Given the description of an element on the screen output the (x, y) to click on. 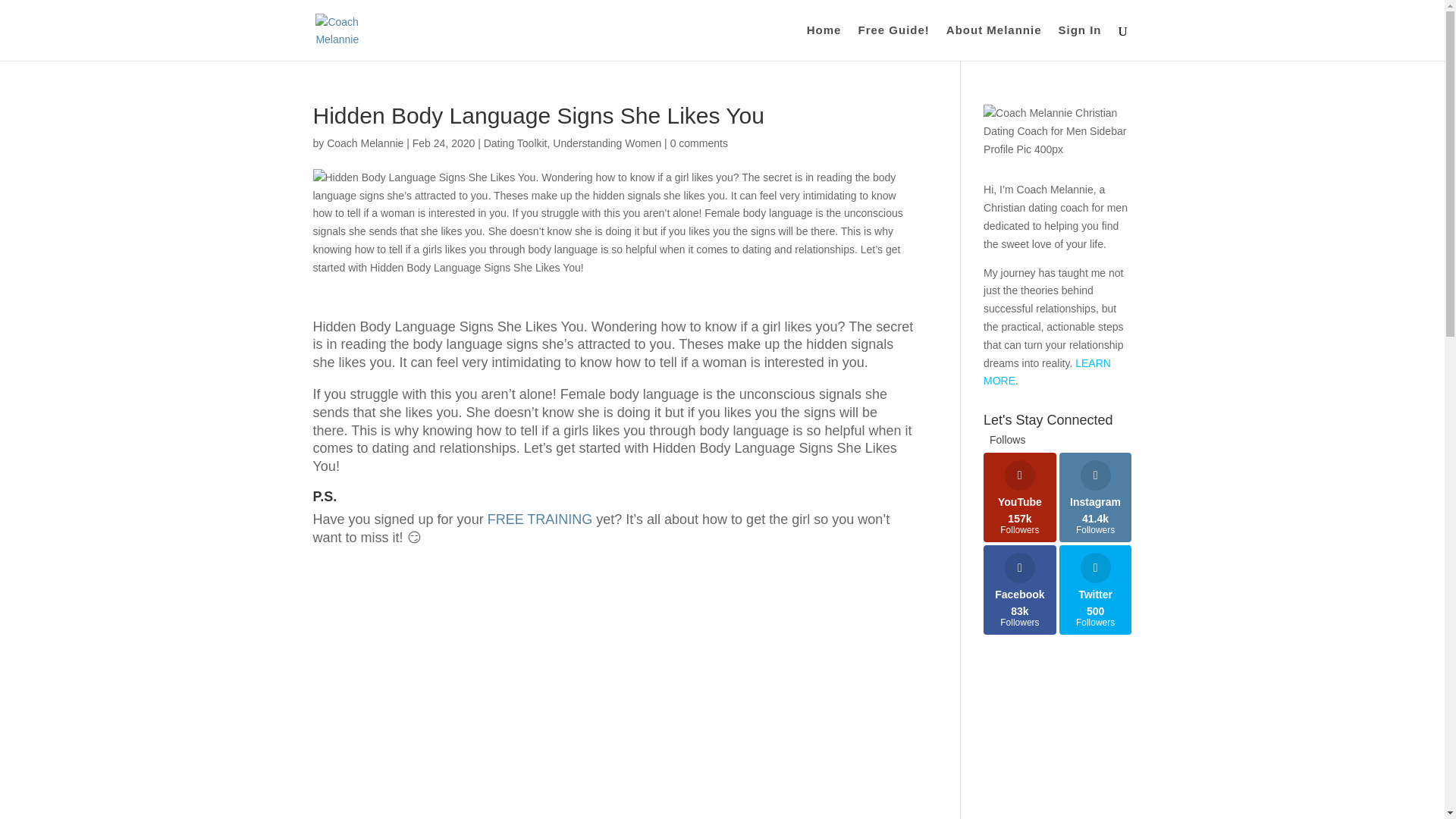
FREE TRAINING (539, 519)
0 comments (1095, 497)
Coach Melannie (1020, 497)
Dating Toolkit (1020, 589)
About Melannie (698, 143)
Free Guide! (364, 143)
Home (1095, 589)
Sign In (515, 143)
Understanding Women (994, 42)
LEARN MORE (892, 42)
Posts by Coach Melannie (823, 42)
